Given the description of an element on the screen output the (x, y) to click on. 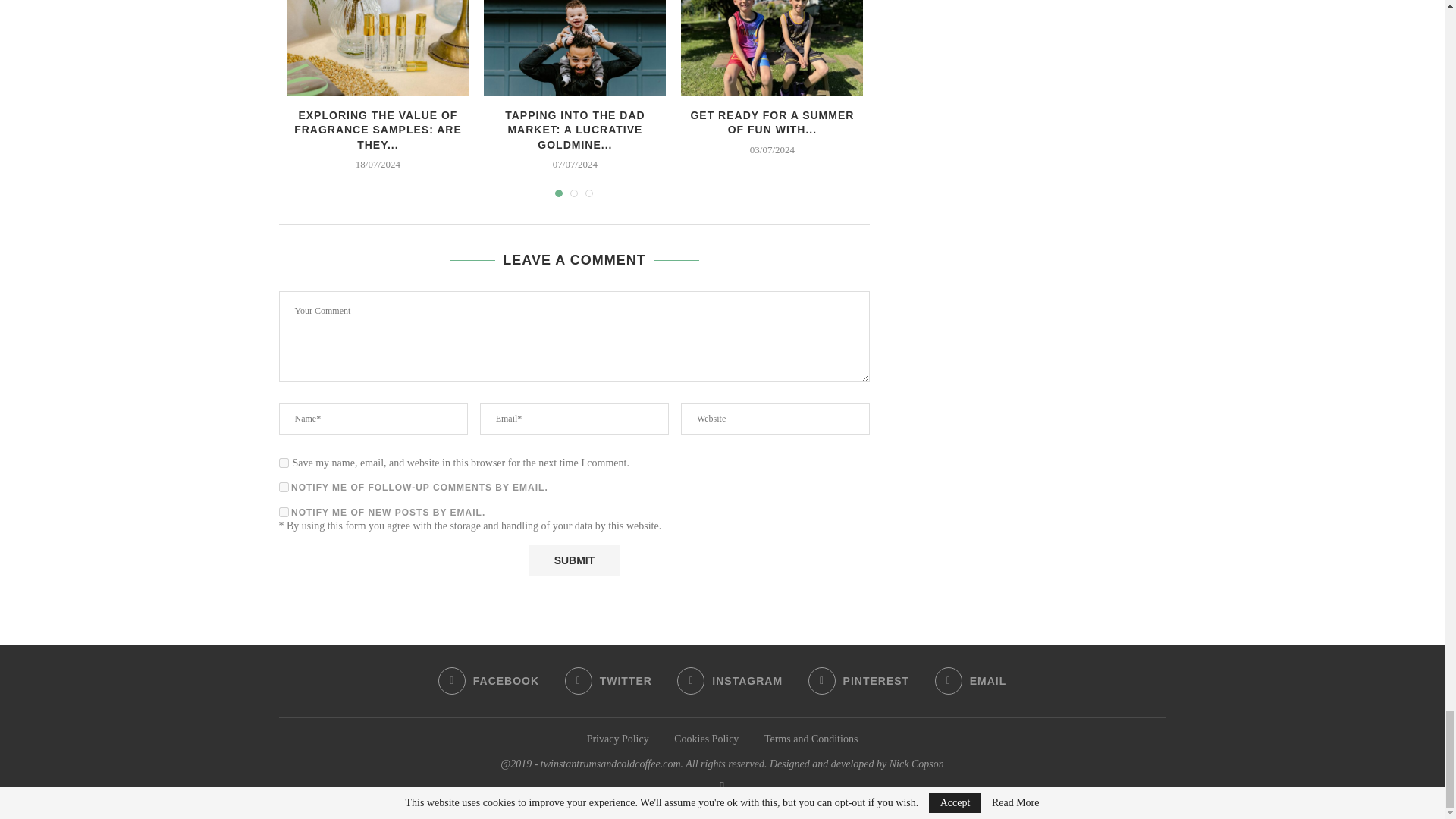
yes (283, 462)
subscribe (283, 511)
subscribe (283, 487)
Submit (574, 560)
